Given the description of an element on the screen output the (x, y) to click on. 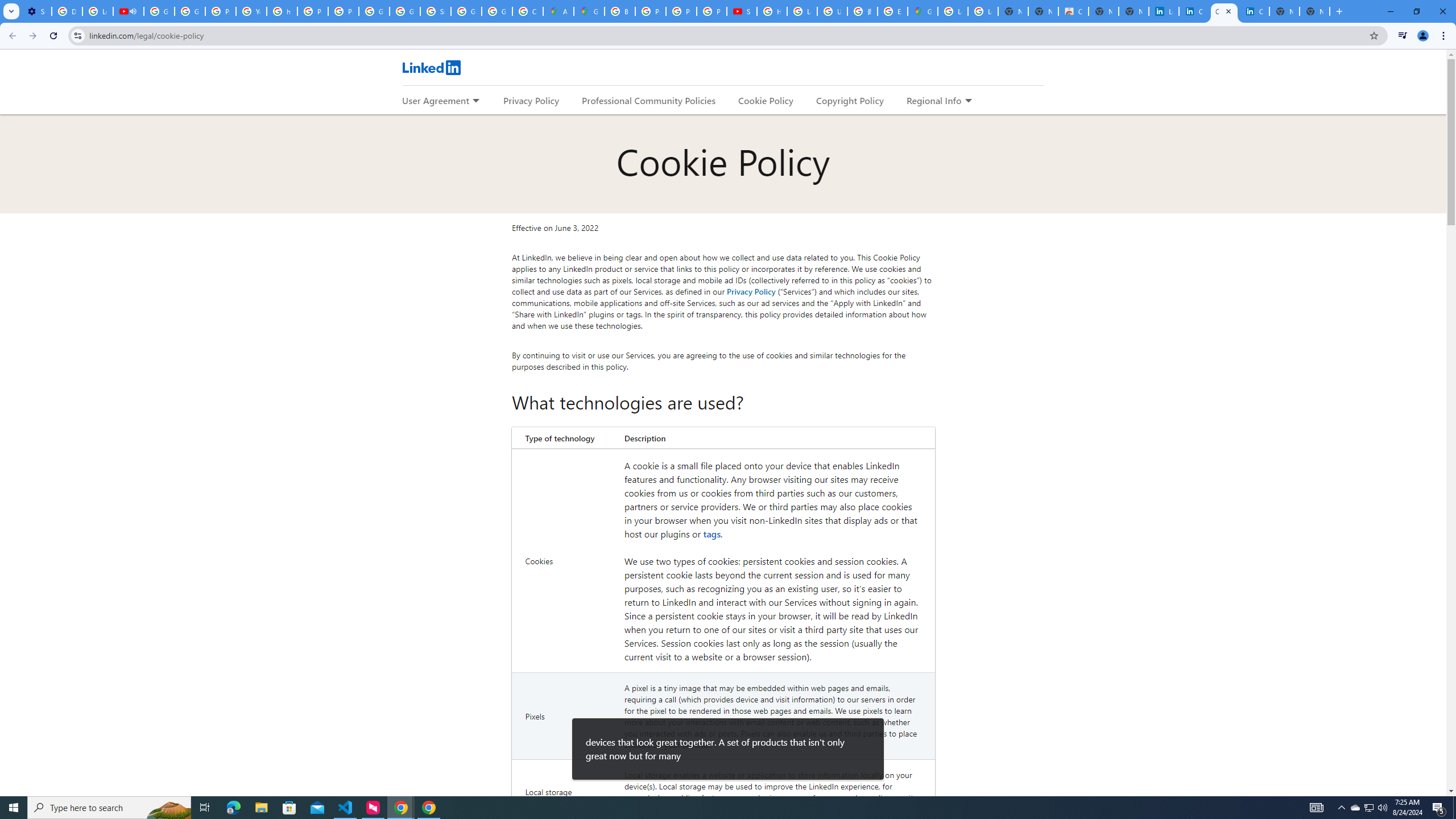
Mute tab (133, 10)
Blogger Policies and Guidelines - Transparency Center (619, 11)
Privacy Help Center - Policies Help (681, 11)
Settings - Customize profile (36, 11)
Google Account Help (158, 11)
LinkedIn Logo (430, 67)
Explore new street-level details - Google Maps Help (892, 11)
Subscriptions - YouTube (741, 11)
Google Maps (589, 11)
Privacy Policy (751, 290)
